Given the description of an element on the screen output the (x, y) to click on. 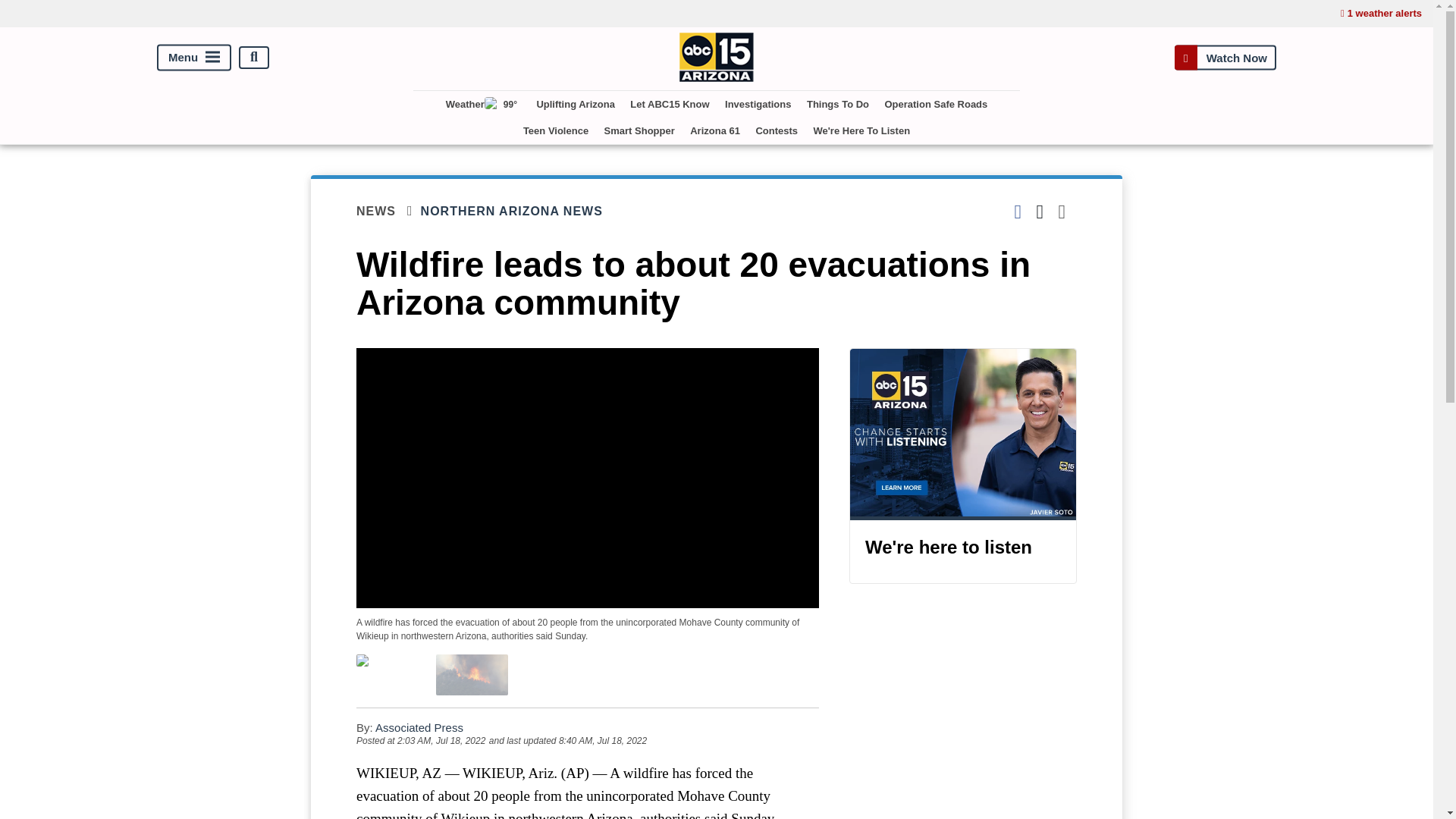
Watch Now (1224, 56)
Menu (194, 57)
